Given the description of an element on the screen output the (x, y) to click on. 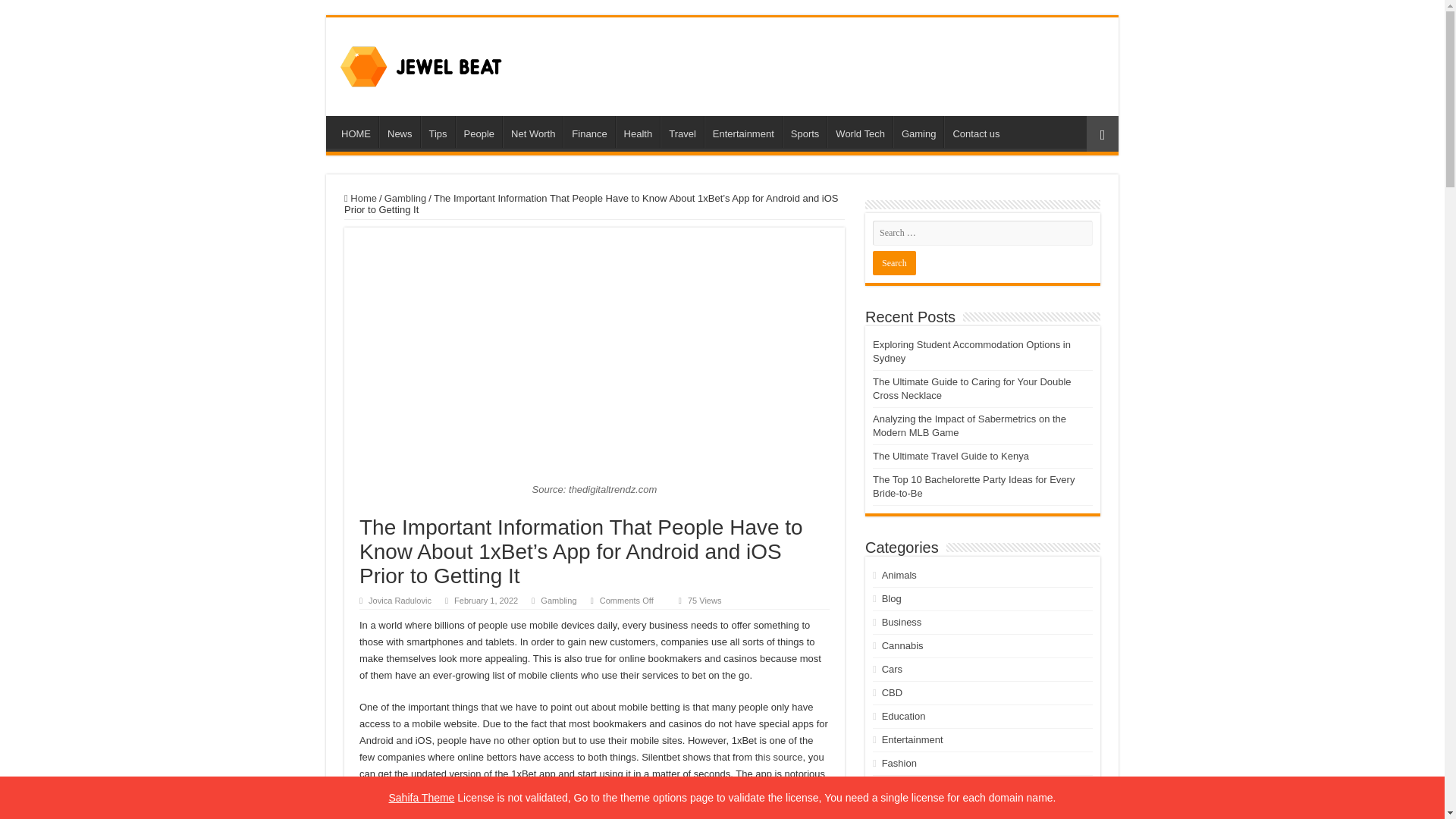
News (399, 132)
Jewel Beat (421, 63)
Gambling (405, 197)
Entertainment (742, 132)
Home (360, 197)
HOME (355, 132)
World Tech (859, 132)
Search (893, 262)
Tips (437, 132)
Jovica Radulovic (399, 600)
this source (779, 756)
People (478, 132)
Sports (805, 132)
Contact us (975, 132)
Gaming (918, 132)
